Given the description of an element on the screen output the (x, y) to click on. 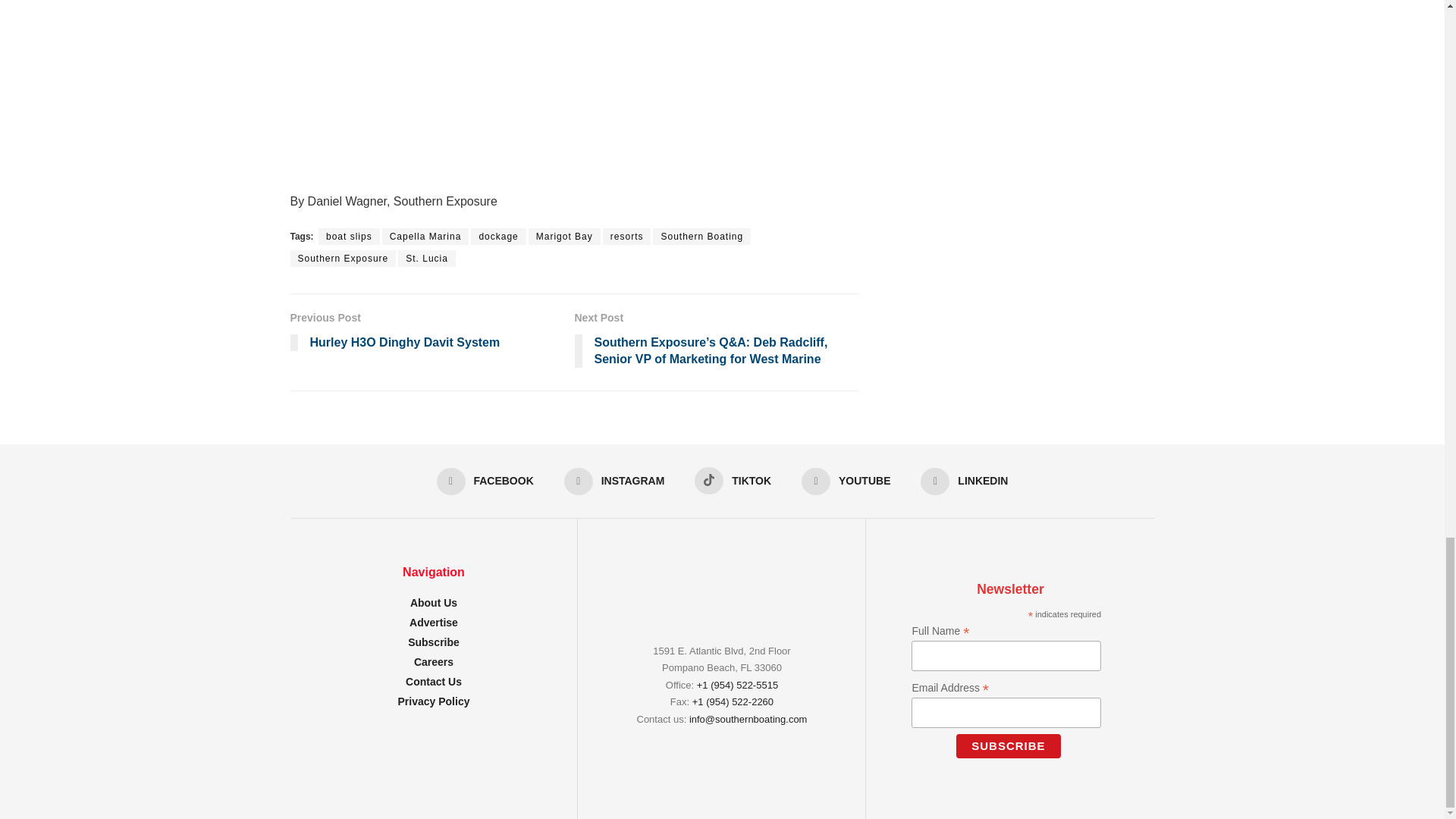
Subscribe (1007, 745)
